Given the description of an element on the screen output the (x, y) to click on. 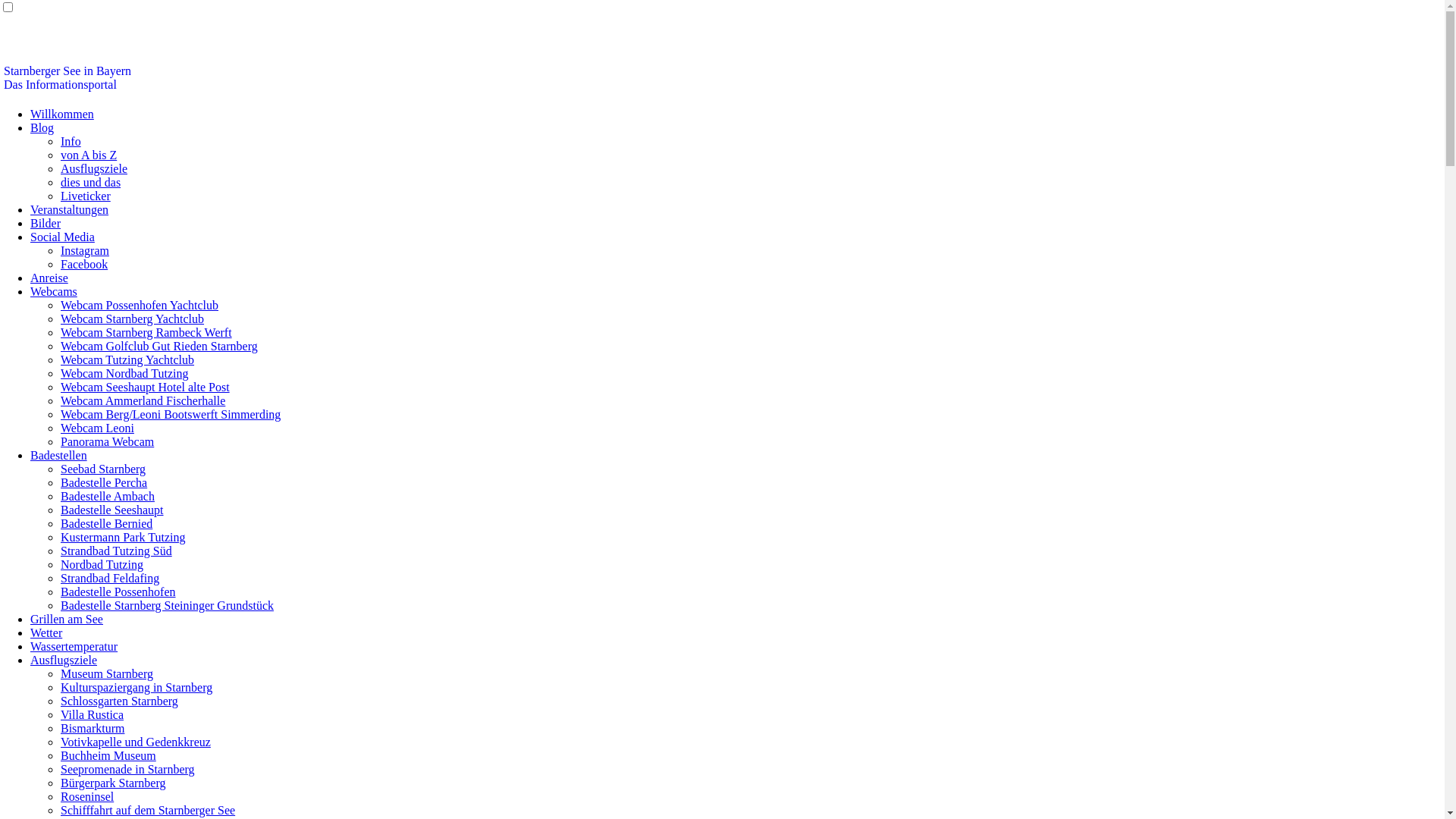
Webcam Tutzing Yachtclub Element type: text (127, 359)
Webcam Seeshaupt Hotel alte Post Element type: text (144, 386)
Veranstaltungen Element type: text (69, 209)
Social Media Element type: text (62, 236)
Willkommen Element type: text (62, 113)
Seepromenade in Starnberg Element type: text (127, 768)
Webcam Nordbad Tutzing Element type: text (124, 373)
Kustermann Park Tutzing Element type: text (122, 536)
Starnberger See in Bayern
Das Informationsportal Element type: text (67, 77)
von A bis Z Element type: text (88, 154)
Bismarkturm Element type: text (92, 727)
Villa Rustica Element type: text (91, 714)
dies und das Element type: text (90, 181)
Votivkapelle und Gedenkkreuz Element type: text (135, 741)
Ausflugsziele Element type: text (93, 168)
Strandbad Feldafing Element type: text (109, 577)
Seebad Starnberg Element type: text (102, 468)
Webcam Ammerland Fischerhalle Element type: text (142, 400)
Webcam Golfclub Gut Rieden Starnberg Element type: text (158, 345)
Webcam Starnberg Rambeck Werft Element type: text (146, 332)
Webcams Element type: text (53, 291)
Webcam Possenhofen Yachtclub Element type: text (139, 304)
Anreise Element type: text (49, 277)
Webcam Berg/Leoni Bootswerft Simmerding Element type: text (170, 413)
Wassertemperatur Element type: text (73, 646)
Instagram Element type: text (84, 250)
Panorama Webcam Element type: text (106, 441)
Schlossgarten Starnberg Element type: text (119, 700)
Facebook Element type: text (83, 263)
Webcam Starnberg Yachtclub Element type: text (131, 318)
Blog Element type: text (41, 127)
Kulturspaziergang in Starnberg Element type: text (136, 686)
Badestelle Percha Element type: text (103, 482)
Badestelle Possenhofen Element type: text (117, 591)
Wetter Element type: text (46, 632)
Webcam Leoni Element type: text (97, 427)
Liveticker Element type: text (85, 195)
Museum Starnberg Element type: text (106, 673)
Badestelle Bernied Element type: text (106, 523)
Bilder Element type: text (45, 222)
Grillen am See Element type: text (66, 618)
Nordbad Tutzing Element type: text (101, 564)
Roseninsel Element type: text (86, 796)
Badestellen Element type: text (58, 454)
Badestelle Ambach Element type: text (107, 495)
Schifffahrt auf dem Starnberger See Element type: text (147, 809)
Badestelle Seeshaupt Element type: text (111, 509)
Buchheim Museum Element type: text (108, 755)
Info Element type: text (70, 140)
Ausflugsziele Element type: text (63, 659)
